Given the description of an element on the screen output the (x, y) to click on. 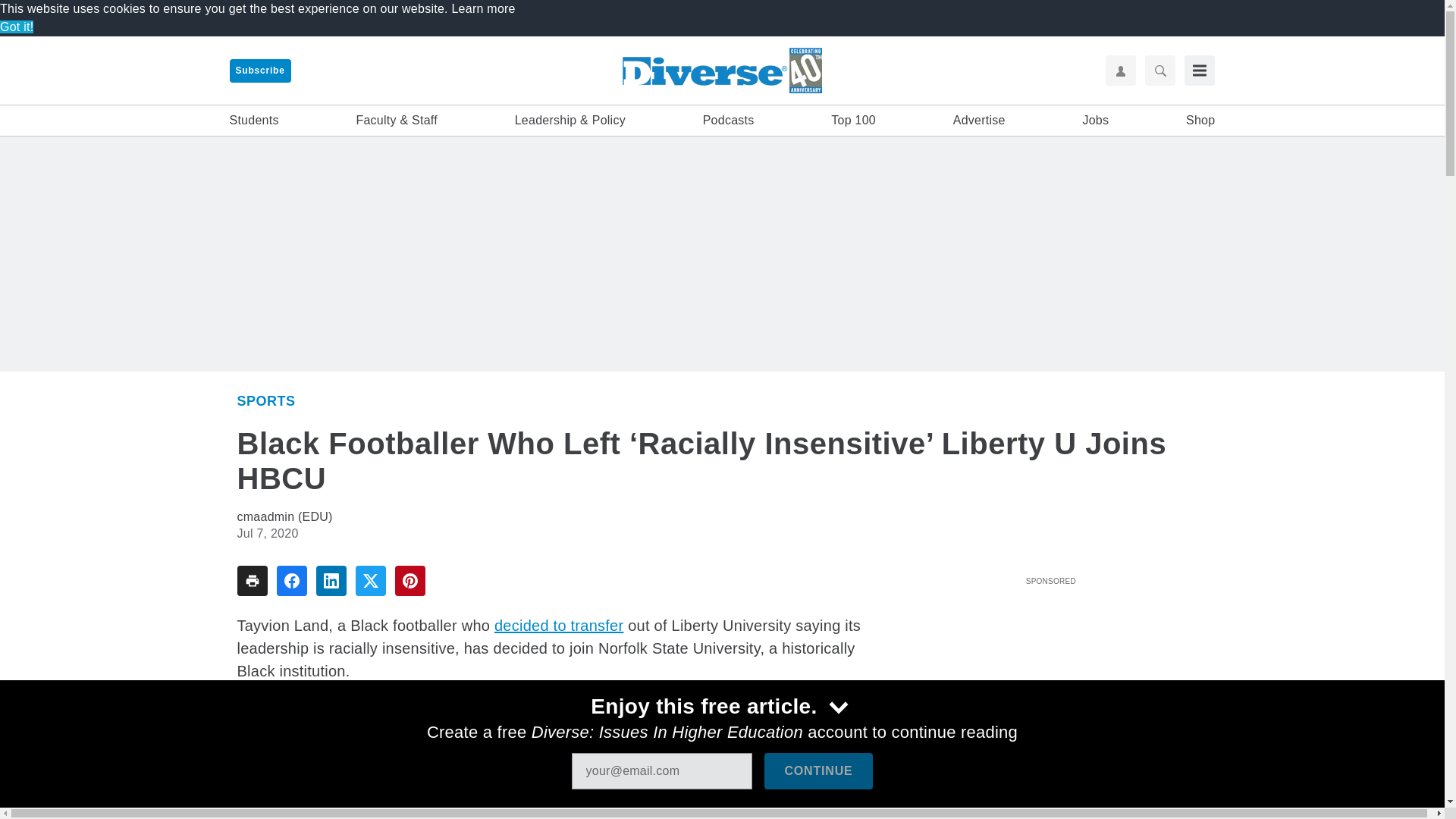
Share To print (250, 580)
Share To linkedin (330, 580)
Subscribe (258, 70)
Share To pinterest (409, 580)
Learn more (483, 8)
Advertise (979, 120)
Podcasts (728, 120)
Share To twitter (370, 580)
Share To facebook (290, 580)
Top 100 (853, 120)
Shop (1200, 120)
Jobs (1094, 120)
Got it! (16, 26)
Students (253, 120)
Sports (265, 400)
